Given the description of an element on the screen output the (x, y) to click on. 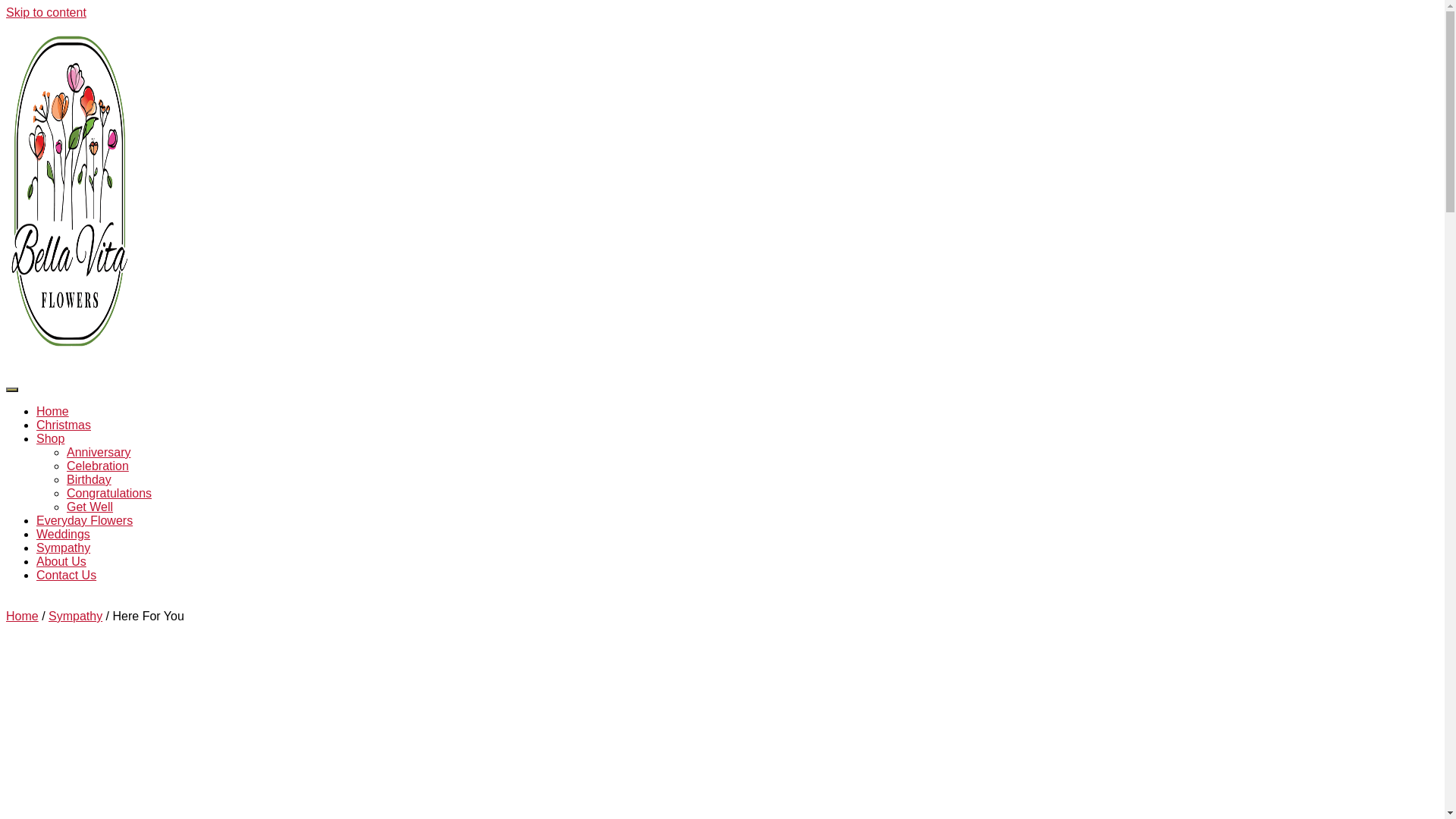
Congratulations Element type: text (108, 492)
Get Well Element type: text (89, 506)
Contact Us Element type: text (66, 574)
Everyday Flowers Element type: text (84, 520)
Home Element type: text (22, 615)
Birthday Element type: text (88, 479)
About Us Element type: text (61, 561)
Sympathy Element type: text (63, 547)
Anniversary Element type: text (98, 451)
Weddings Element type: text (63, 533)
Skip to content Element type: text (46, 12)
Home Element type: text (52, 410)
Celebration Element type: text (97, 465)
Shop Element type: text (50, 438)
Sympathy Element type: text (75, 615)
Christmas Element type: text (63, 424)
